Given the description of an element on the screen output the (x, y) to click on. 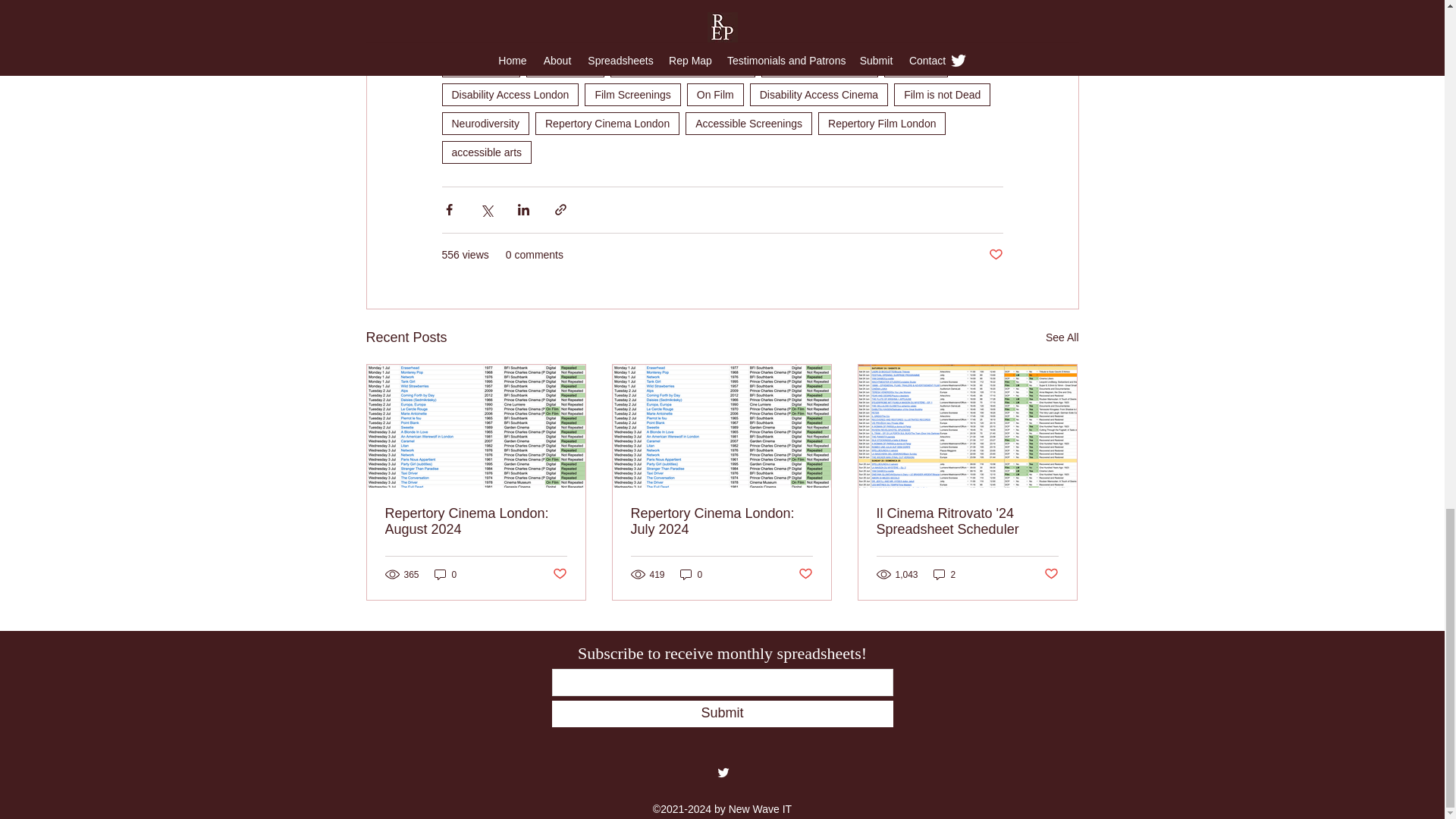
Repertory Cinema (730, 36)
Rep Cinema (480, 36)
Revival House (569, 36)
35mm (645, 36)
London Cinema (936, 36)
London Film Programming (682, 65)
Film Blog (915, 65)
Cinema London (834, 36)
Rep Cinema London (819, 65)
London Film (480, 65)
